Given the description of an element on the screen output the (x, y) to click on. 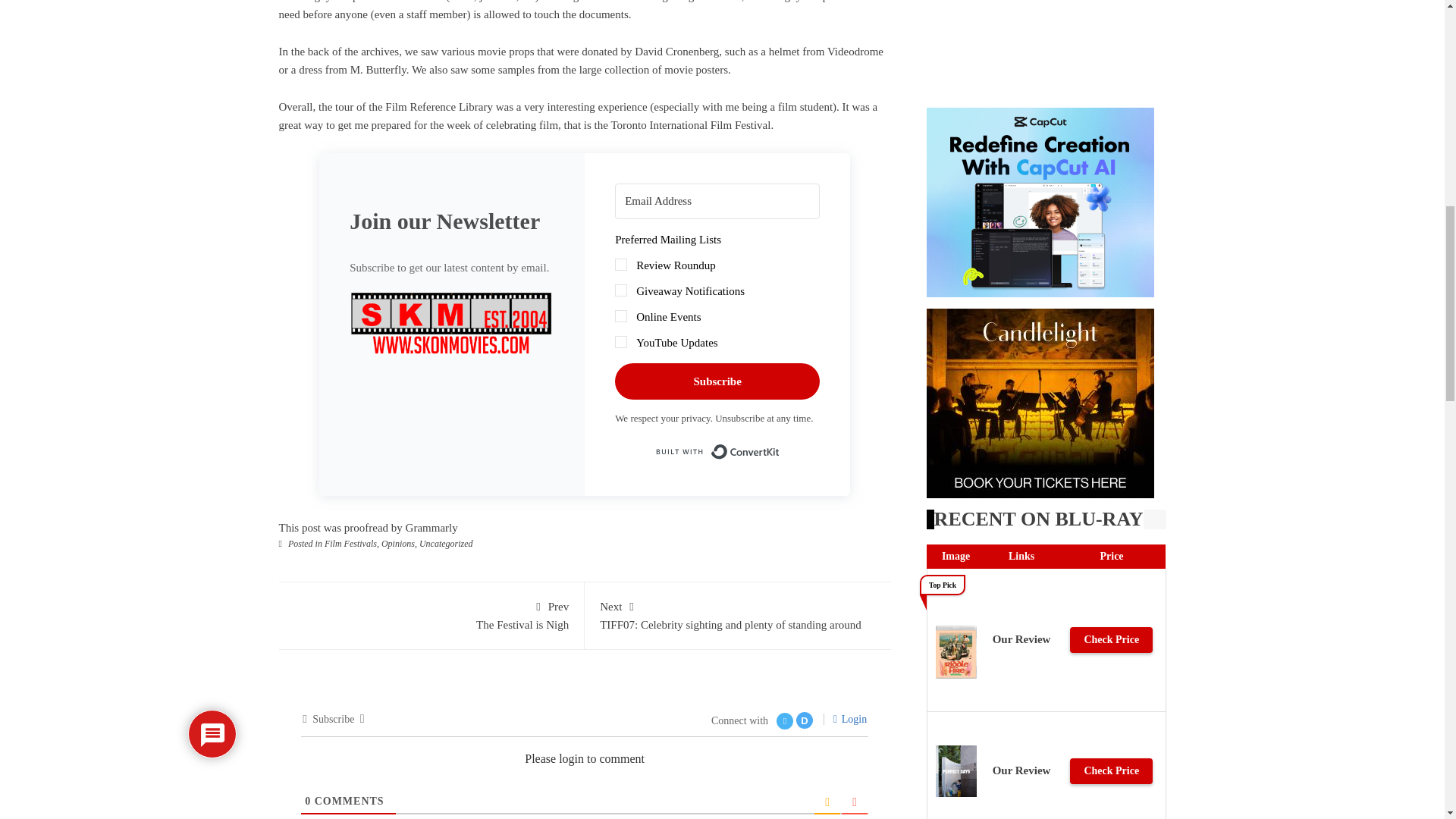
Advertisement (1046, 45)
Toronto International Film Festival (690, 124)
